Given the description of an element on the screen output the (x, y) to click on. 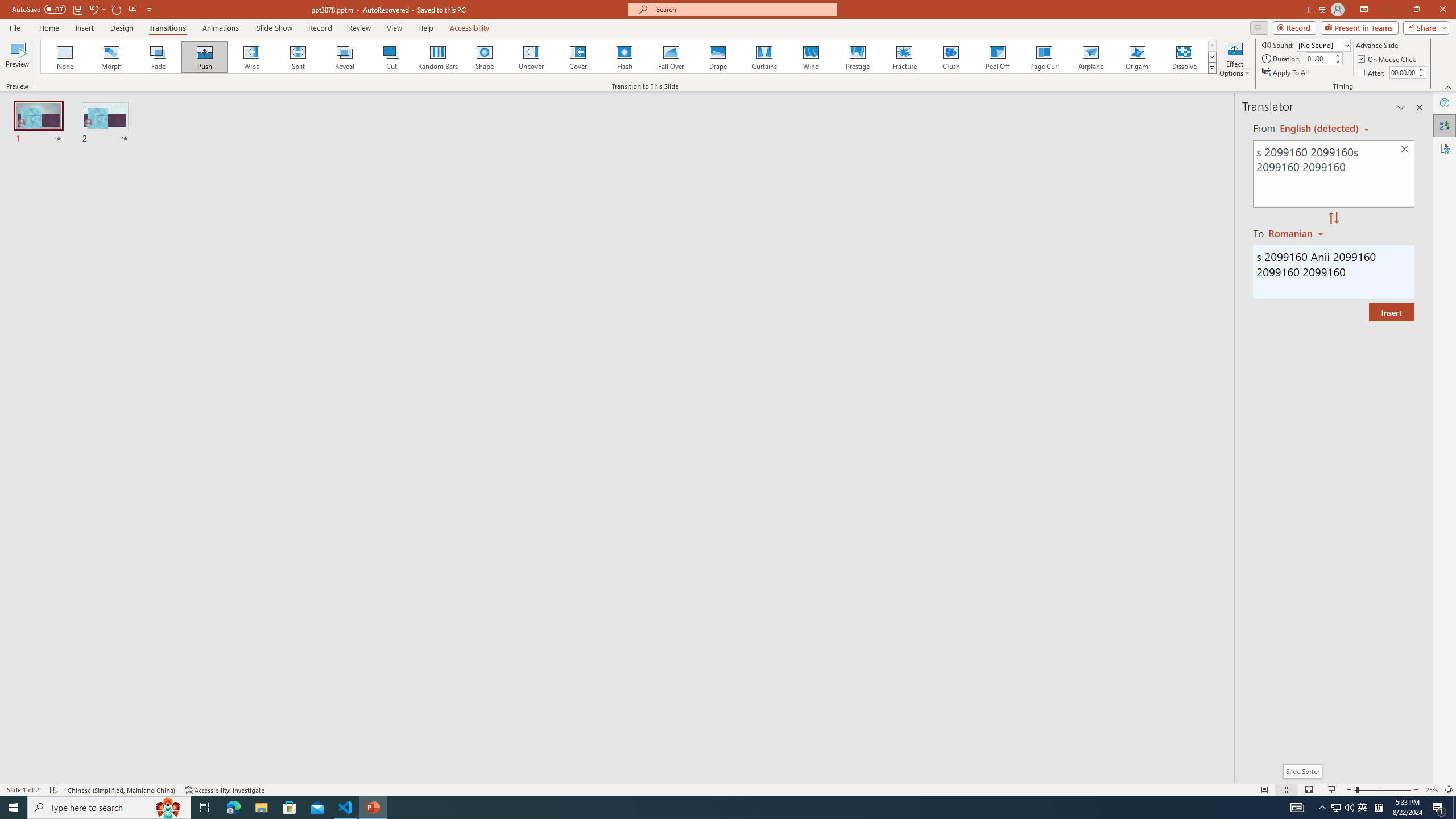
Curtains (764, 56)
Reveal (344, 56)
Origami (1136, 56)
Airplane (1090, 56)
Split (298, 56)
